Given the description of an element on the screen output the (x, y) to click on. 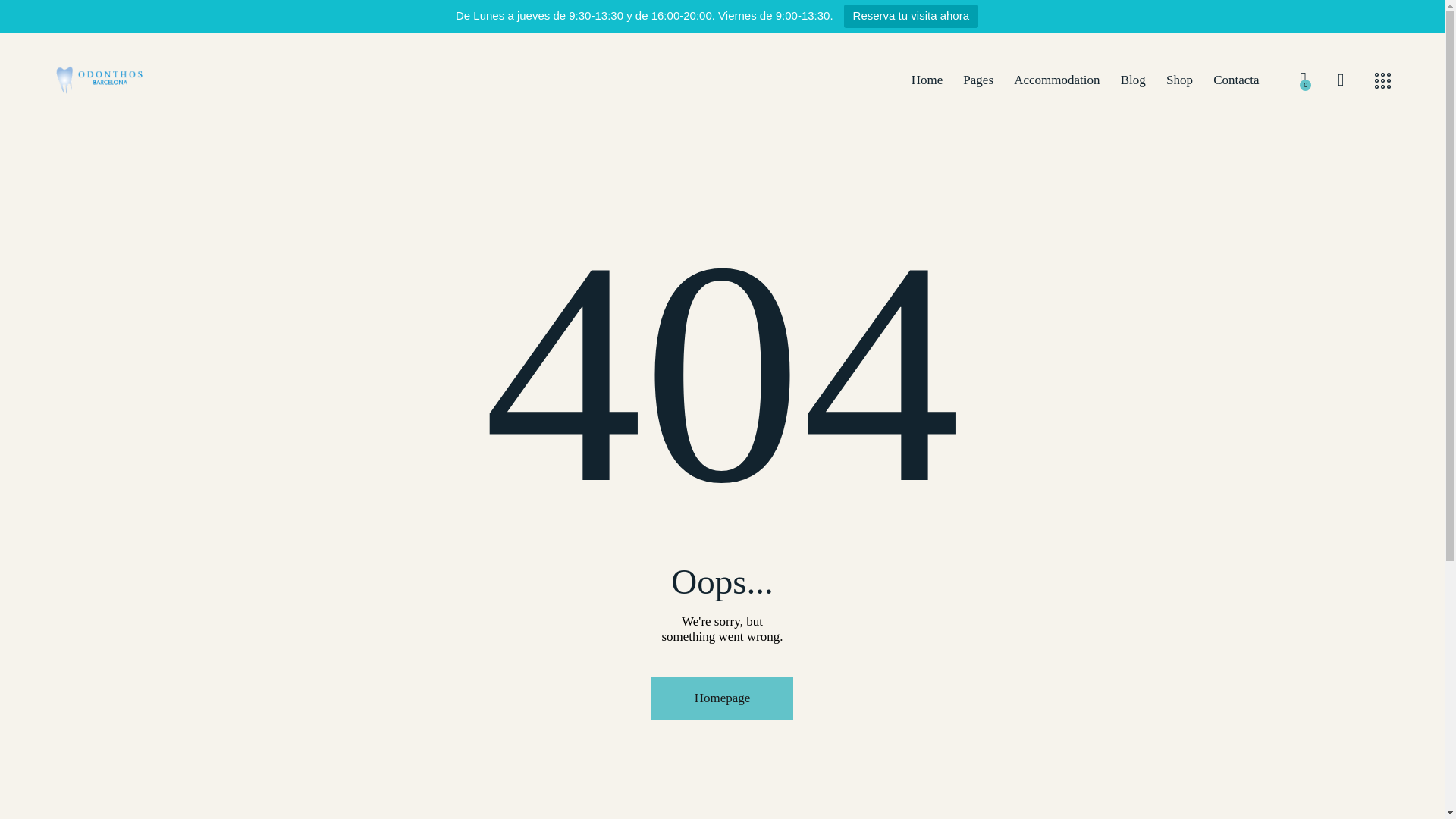
Home (927, 80)
Pages (978, 80)
Accommodation (1057, 80)
Reserva tu visita ahora (911, 15)
